Given the description of an element on the screen output the (x, y) to click on. 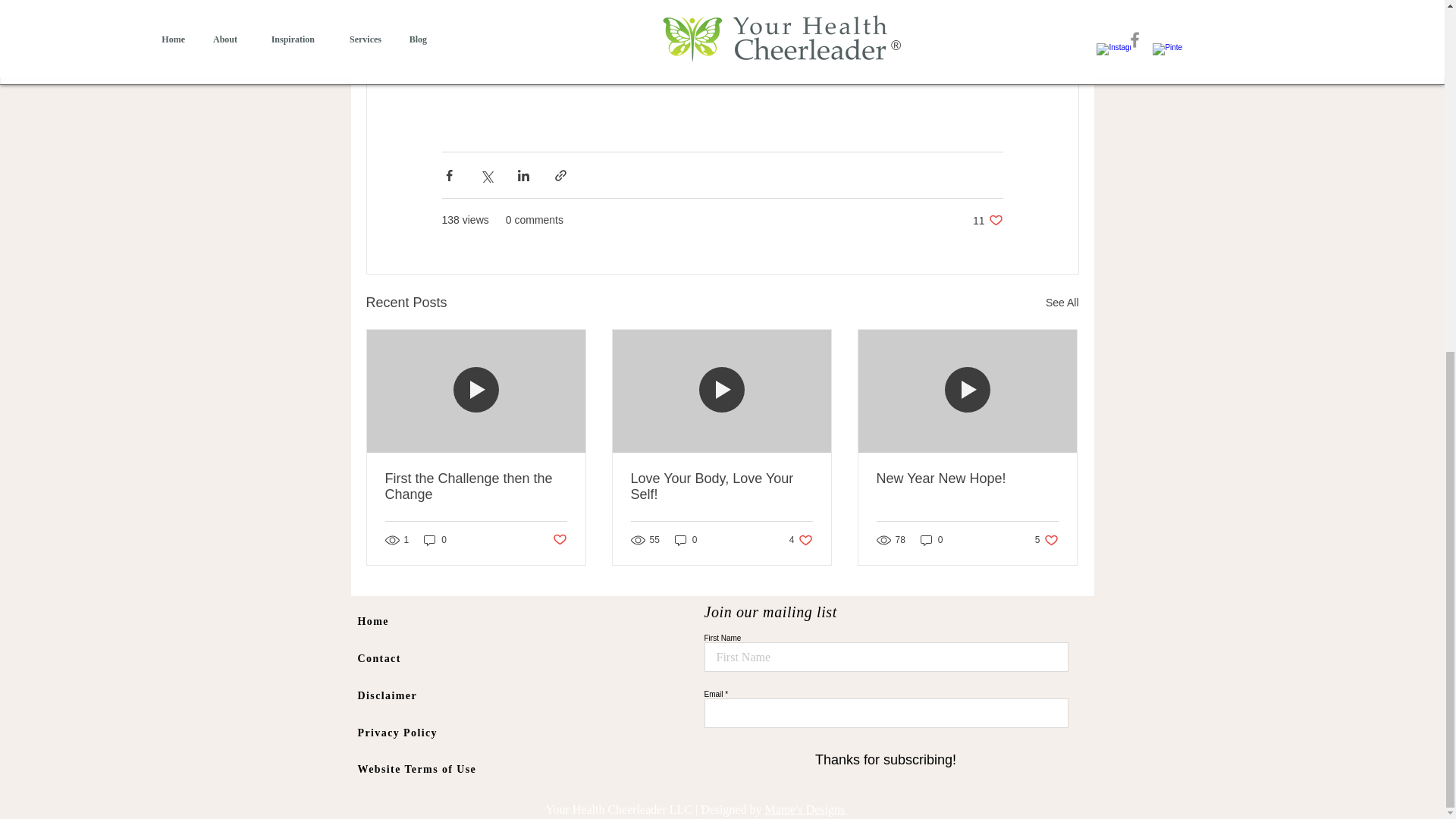
0 (435, 540)
New Year New Hope! (967, 478)
Post not marked as liked (987, 219)
0 (558, 539)
Love Your Body, Love Your Self! (931, 540)
See All (721, 486)
Privacy Policy (800, 540)
First the Challenge then the Change (1061, 302)
